Given the description of an element on the screen output the (x, y) to click on. 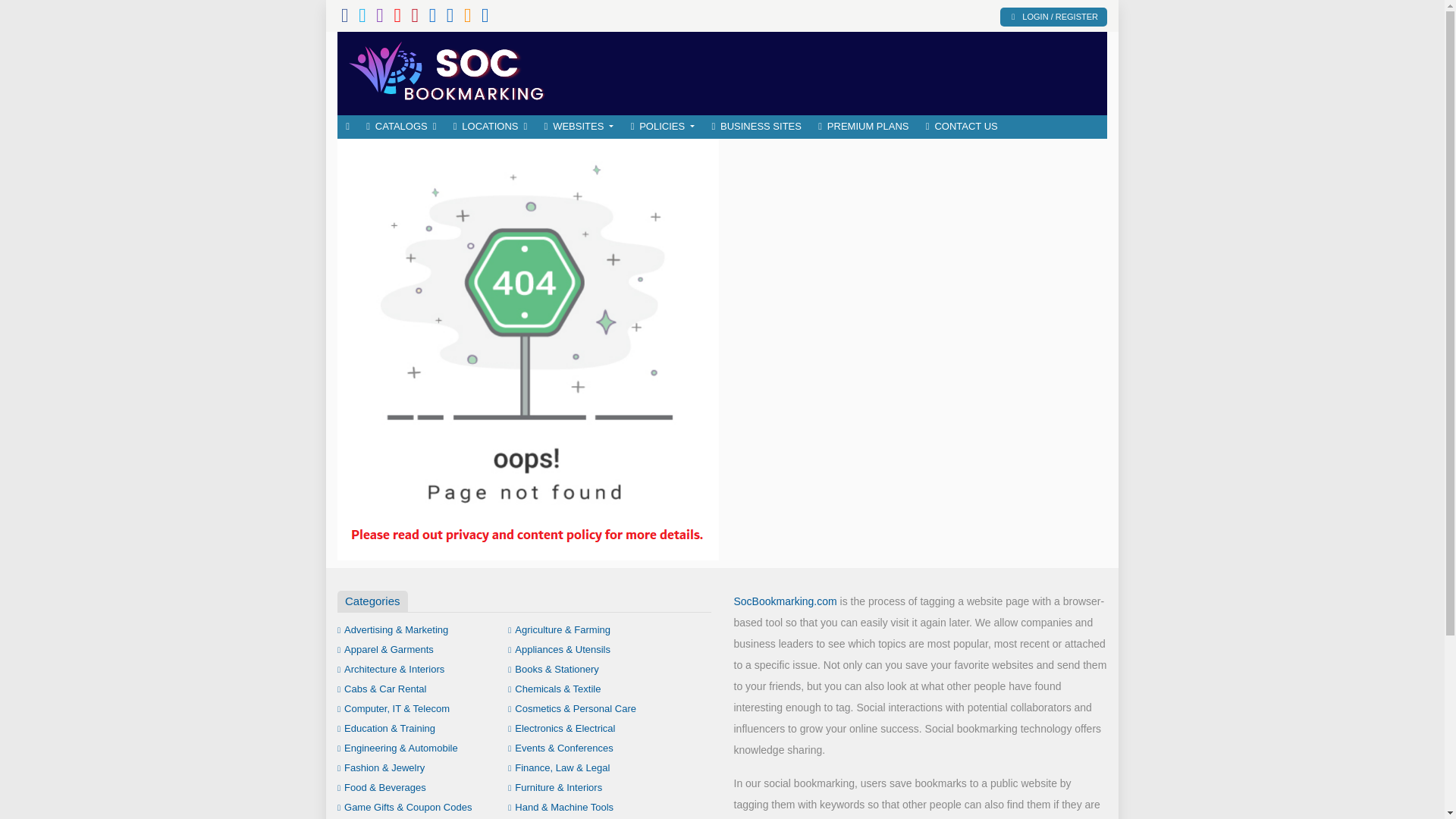
Social Bookmarking Service for Sharing News and Articles (447, 71)
CATALOGS (401, 126)
